Given the description of an element on the screen output the (x, y) to click on. 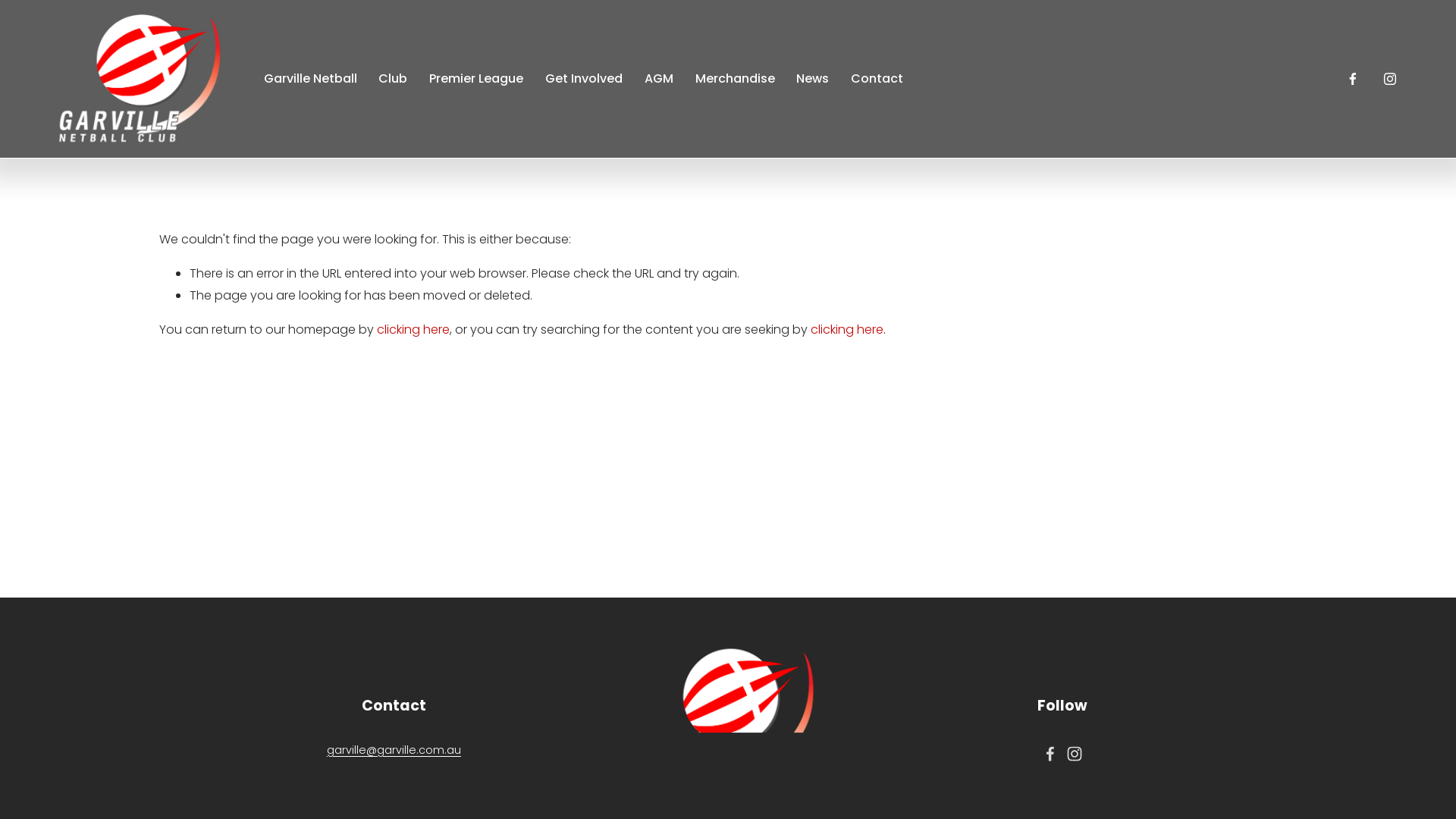
Garville Netball Element type: text (310, 78)
garville@garville.com.au Element type: text (393, 750)
AGM Element type: text (658, 78)
clicking here Element type: text (412, 329)
Premier League Element type: text (476, 78)
clicking here Element type: text (846, 329)
Club Element type: text (392, 78)
Get Involved Element type: text (583, 78)
News Element type: text (812, 78)
Contact Element type: text (876, 78)
Merchandise Element type: text (735, 78)
